Given the description of an element on the screen output the (x, y) to click on. 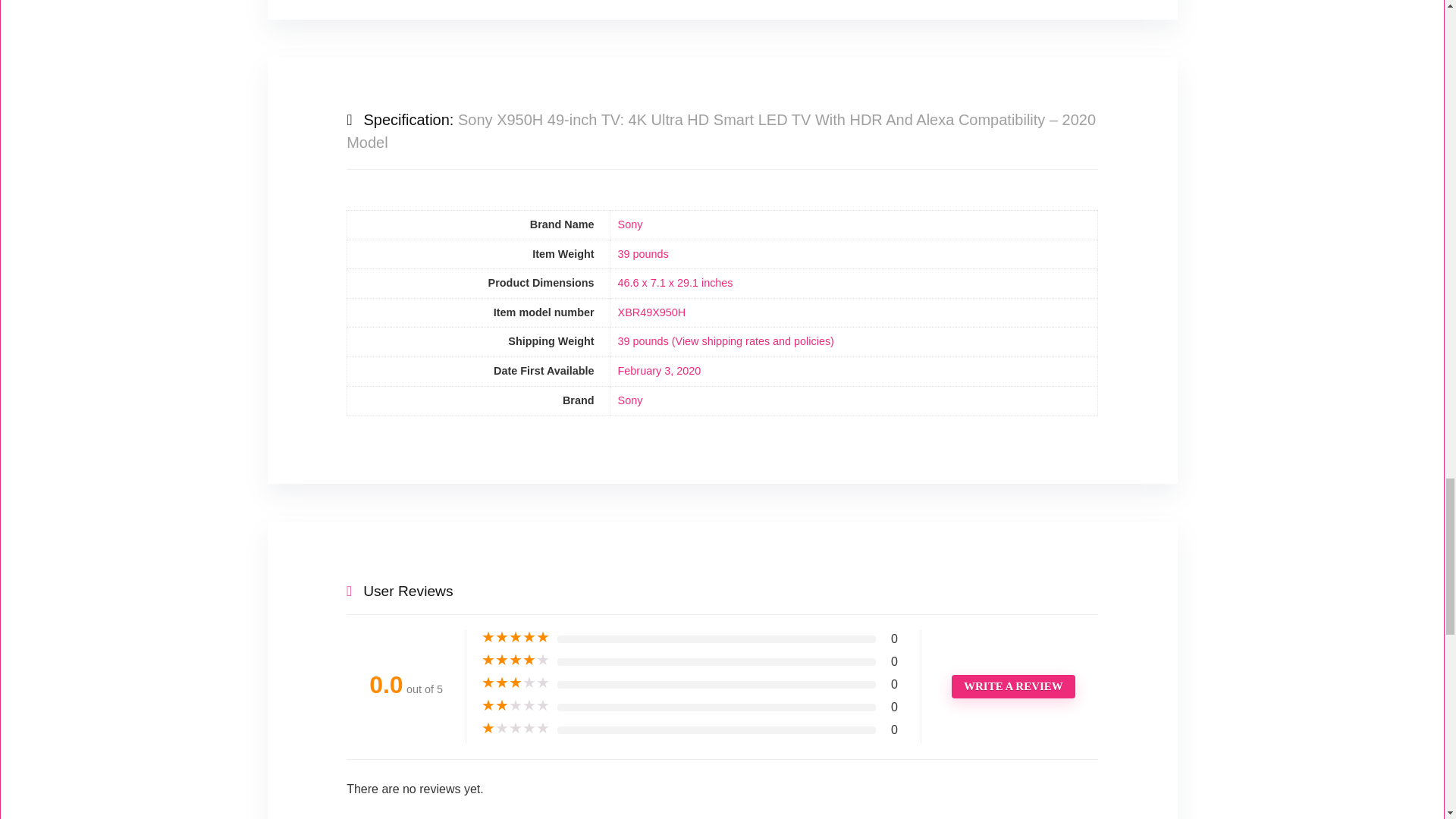
WRITE A REVIEW (1013, 686)
Rated 2 out of 5 (515, 705)
Rated 4 out of 5 (515, 660)
Rated 3 out of 5 (515, 683)
Rated 1 out of 5 (515, 728)
Rated 5 out of 5 (515, 637)
